Given the description of an element on the screen output the (x, y) to click on. 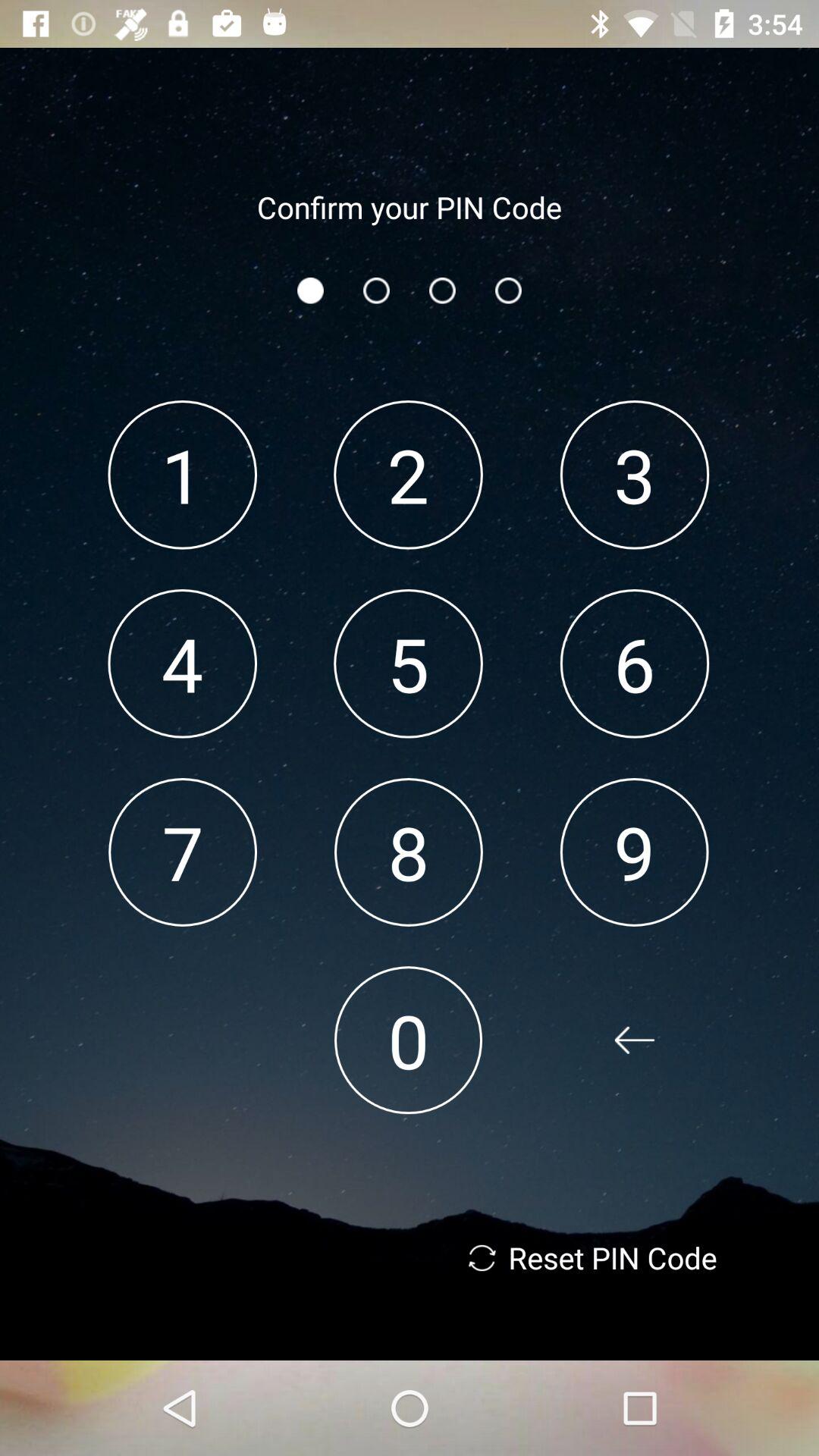
flip to 4 icon (182, 663)
